Given the description of an element on the screen output the (x, y) to click on. 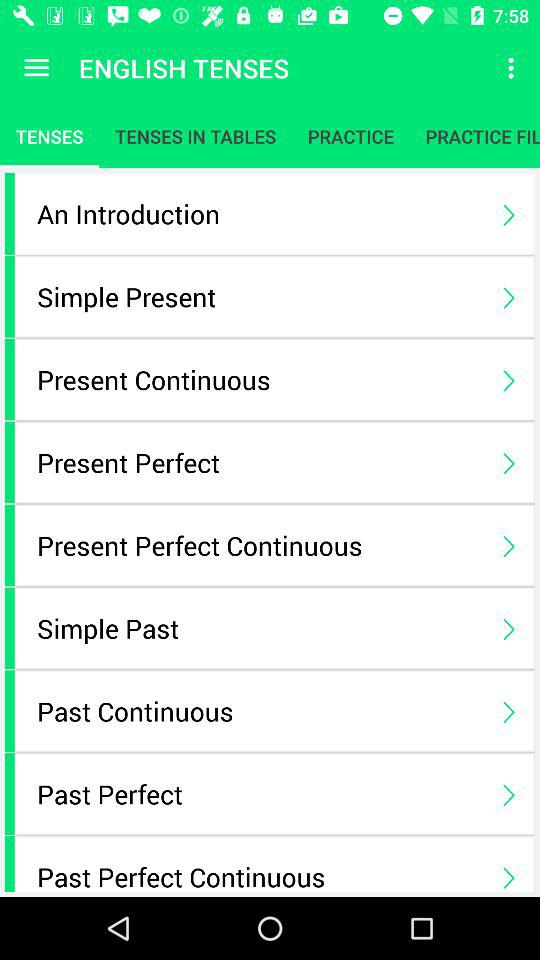
select app next to the english tenses icon (36, 68)
